Given the description of an element on the screen output the (x, y) to click on. 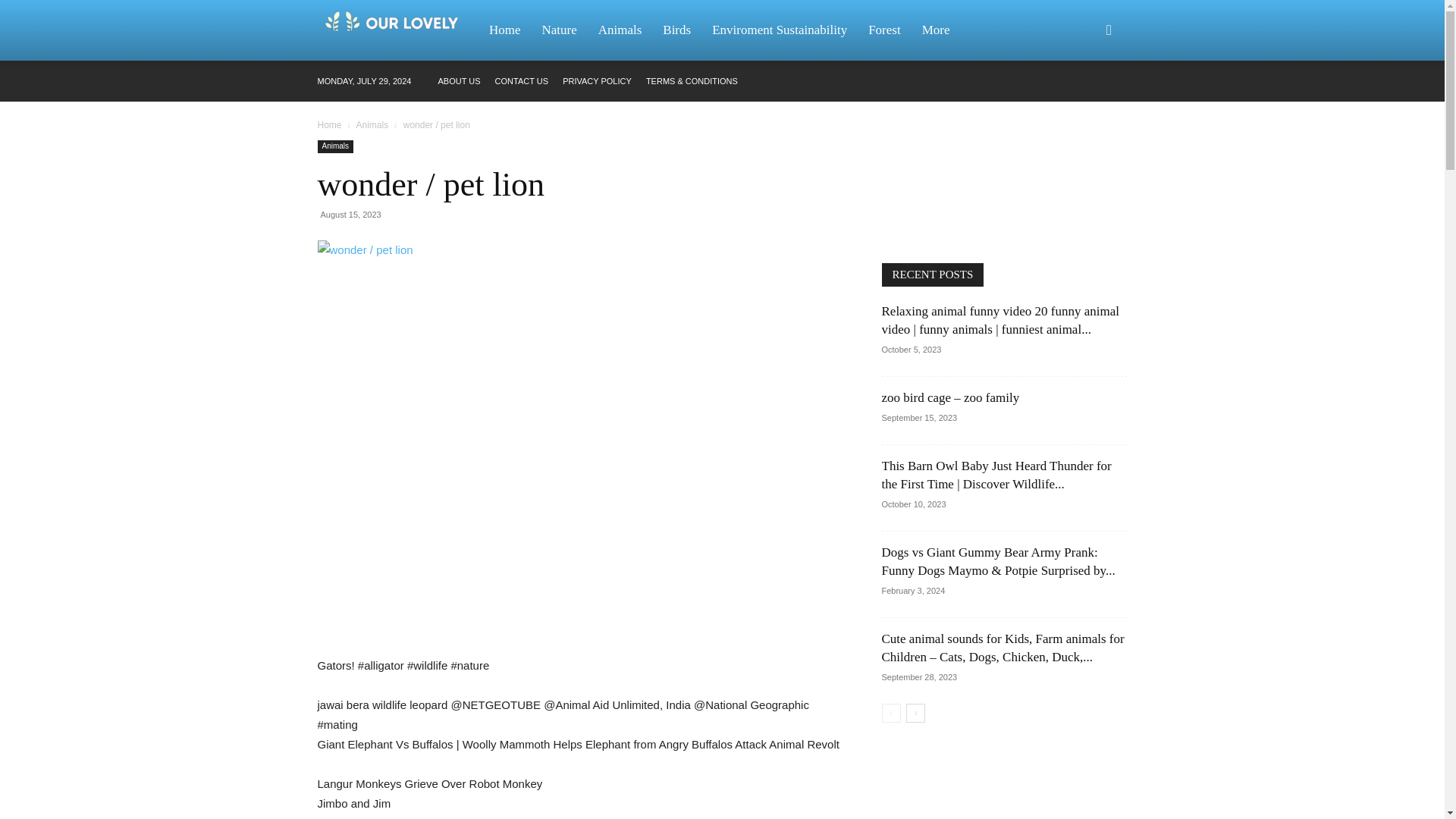
Animals (620, 30)
Our Lovely Nature (397, 30)
Nature (558, 30)
